Given the description of an element on the screen output the (x, y) to click on. 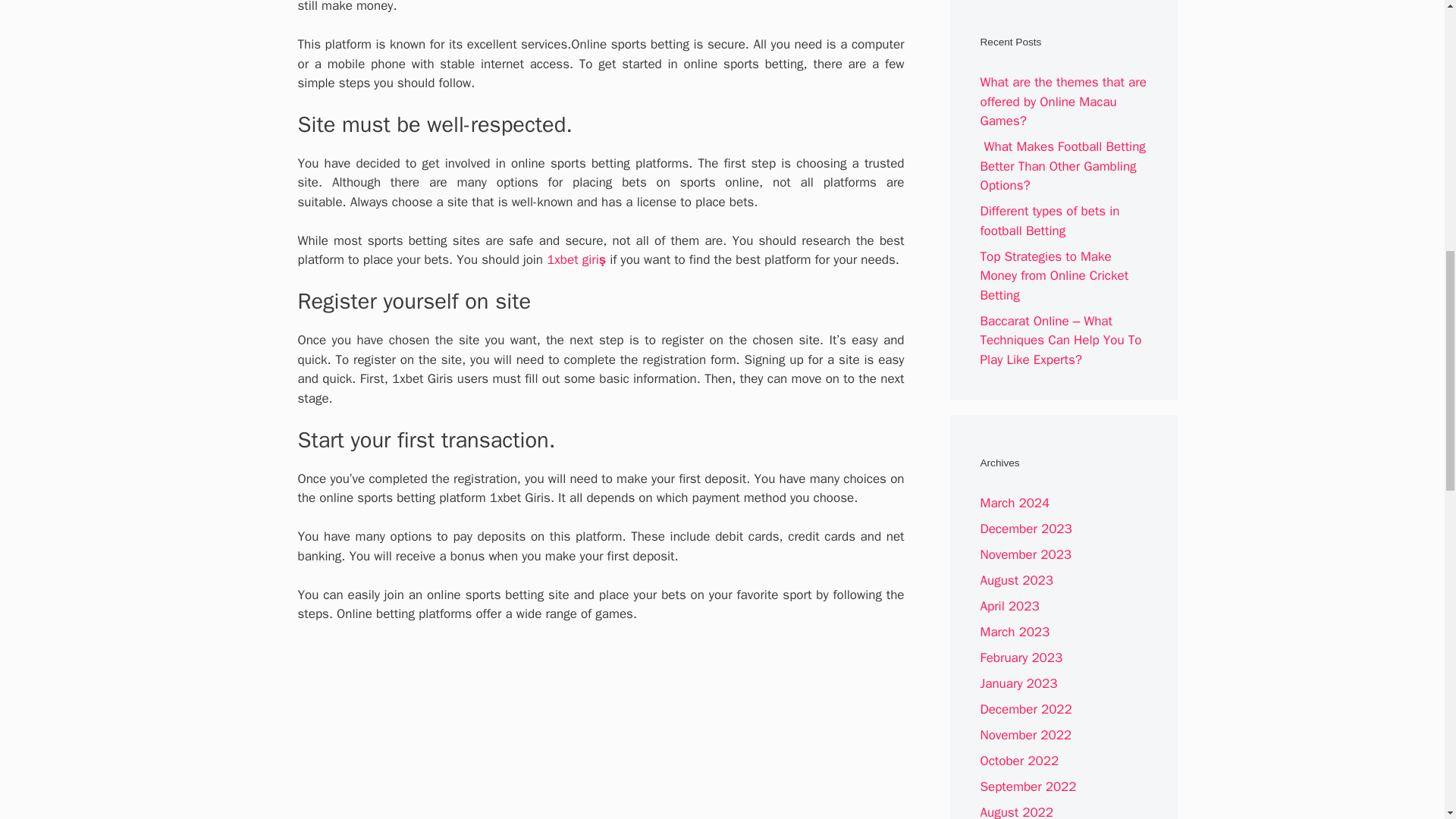
October 2022 (1018, 760)
February 2023 (1020, 657)
April 2023 (1009, 606)
Different types of bets in football Betting (1049, 221)
March 2023 (1014, 631)
November 2023 (1025, 554)
August 2023 (1015, 580)
December 2022 (1025, 709)
What are the themes that are offered by Online Macau Games? (1062, 101)
November 2022 (1025, 734)
